Given the description of an element on the screen output the (x, y) to click on. 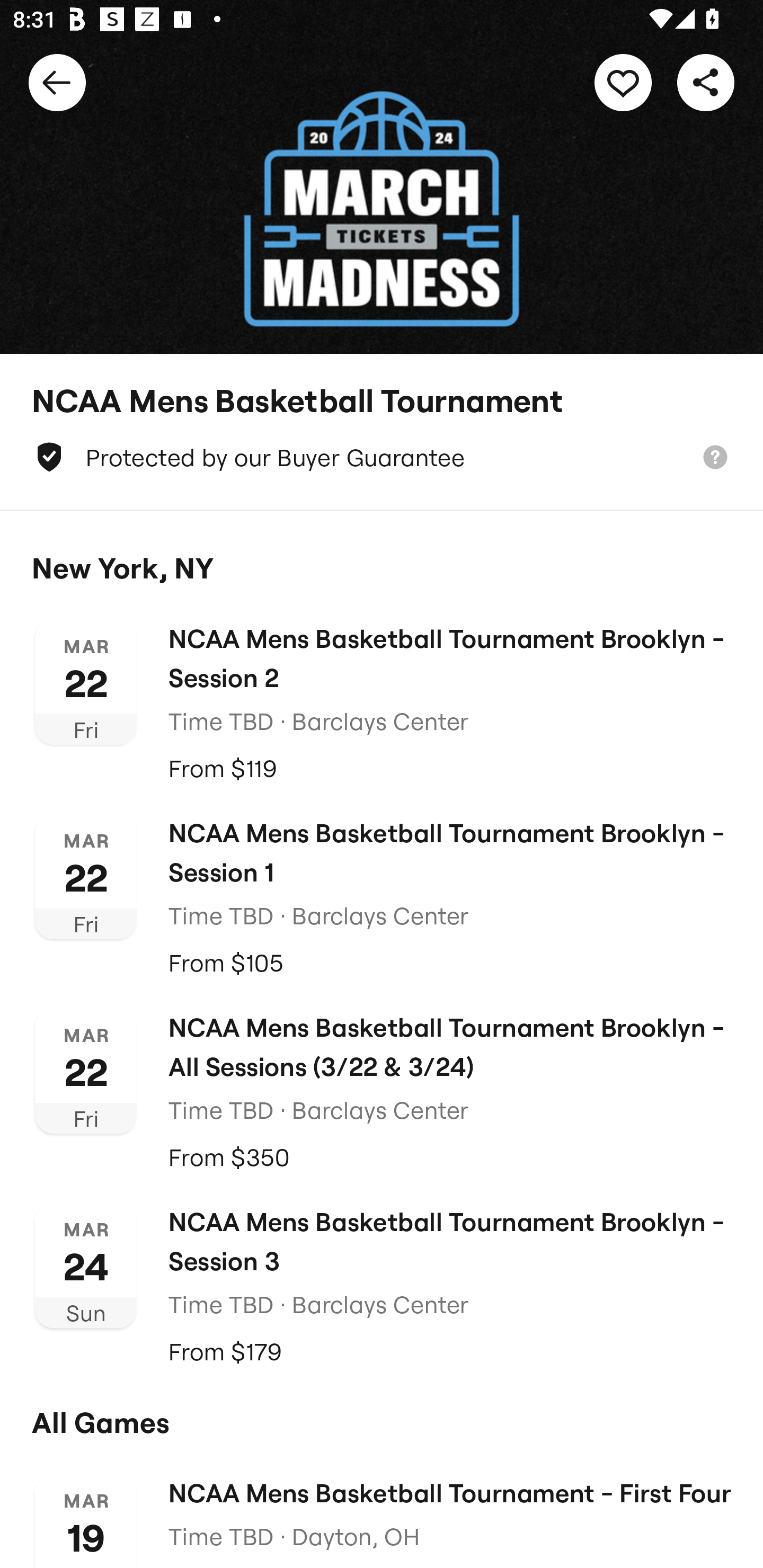
Back (57, 81)
Track this performer (623, 81)
Share this performer (705, 81)
Protected by our Buyer Guarantee Learn more (381, 456)
